Given the description of an element on the screen output the (x, y) to click on. 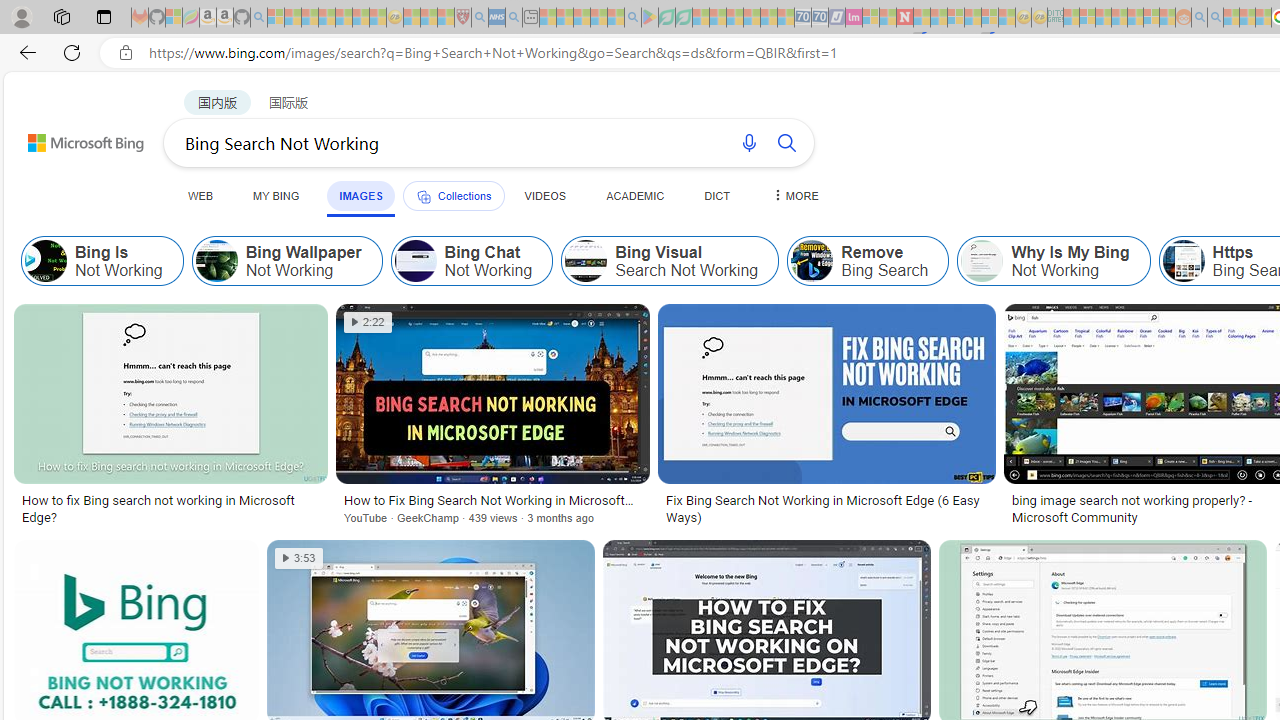
Class: item col (1053, 260)
Bing Is Not Working (45, 260)
WEB (201, 195)
Bing Visual Search Not Working (586, 260)
WEB (201, 195)
How to fix Bing search not working in Microsoft Edge? (170, 508)
Bing Chat Not Working (415, 260)
Remove Bing Search (868, 260)
Bing Wallpaper Not Working (216, 260)
